Given the description of an element on the screen output the (x, y) to click on. 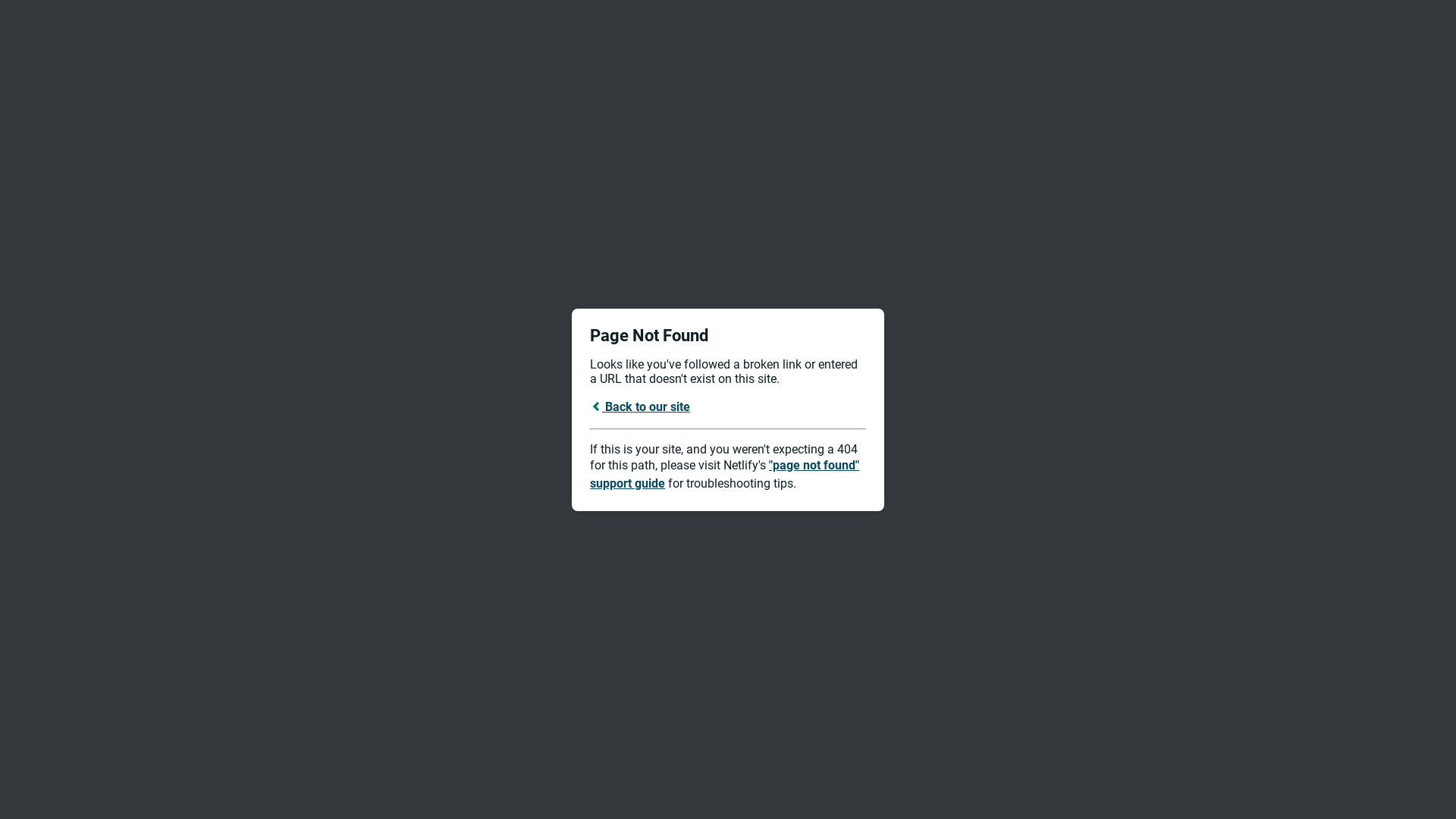
Back to our site Element type: text (639, 405)
"page not found" support guide Element type: text (724, 474)
